Given the description of an element on the screen output the (x, y) to click on. 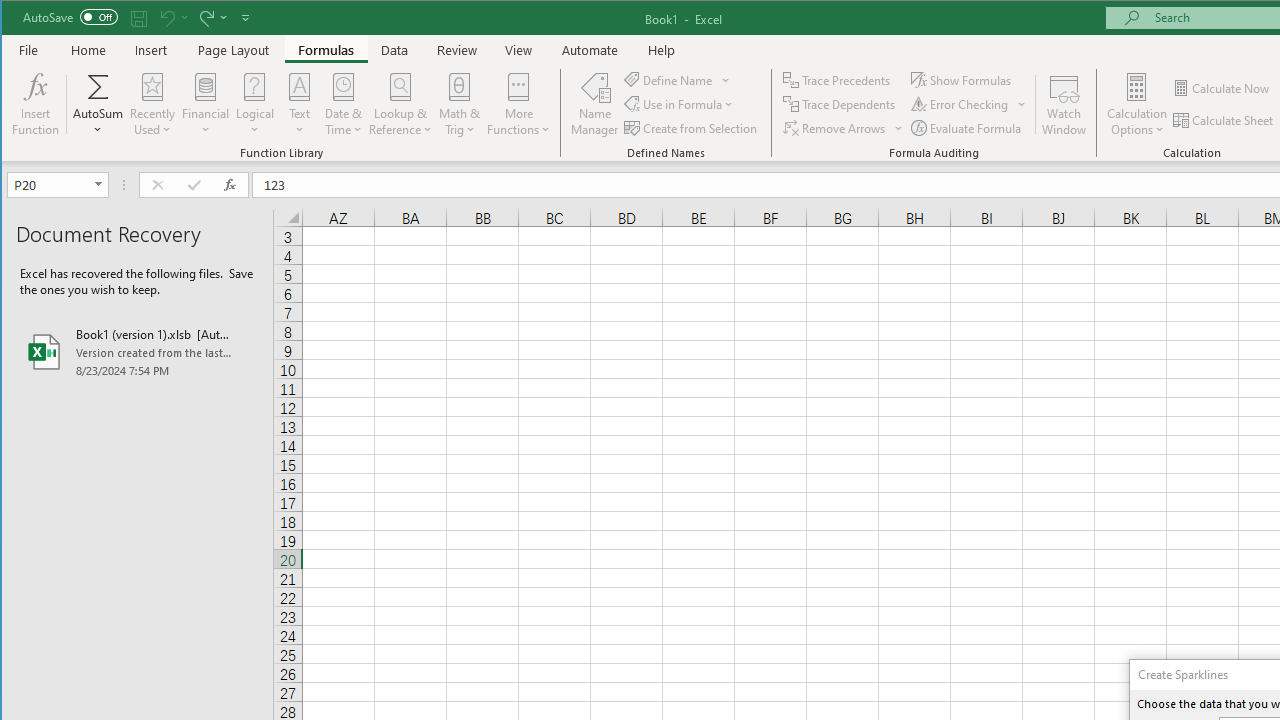
Name Manager (594, 104)
Error Checking... (968, 103)
Recently Used (152, 104)
Lookup & Reference (401, 104)
Watch Window (1064, 104)
Logical (255, 104)
Calculate Now (1222, 88)
Define Name (677, 80)
Trace Precedents (838, 80)
Create from Selection... (692, 127)
